Given the description of an element on the screen output the (x, y) to click on. 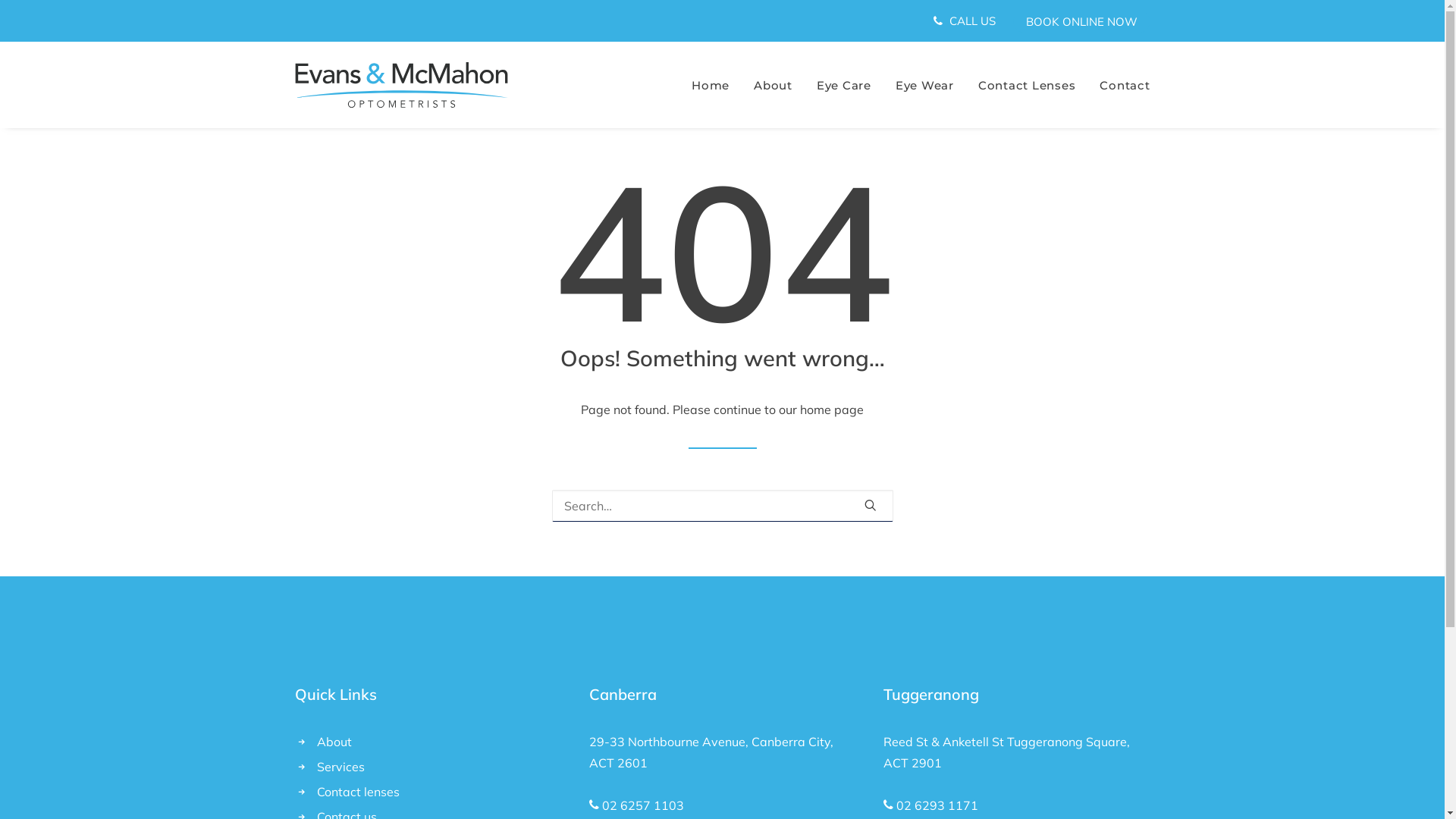
Reed St & Anketell St Tuggeranong Square,
ACT 2901 Element type: text (1005, 752)
Contact Lenses Element type: text (1026, 84)
02 6293 1171 Element type: text (935, 804)
BOOK ONLINE NOW Element type: text (1081, 20)
Contact lenses Element type: text (357, 791)
home page Element type: text (831, 409)
Services Element type: text (340, 766)
CALL US Element type: text (966, 20)
Home Element type: text (715, 84)
Eye Care Element type: text (843, 84)
About Element type: text (333, 741)
Search for: Element type: hover (722, 505)
29-33 Northbourne Avenue, Canberra City,
ACT 2601 Element type: text (710, 752)
Eye Wear Element type: text (924, 84)
Contact Element type: text (1118, 84)
About Element type: text (773, 84)
02 6257 1103 Element type: text (643, 804)
